Given the description of an element on the screen output the (x, y) to click on. 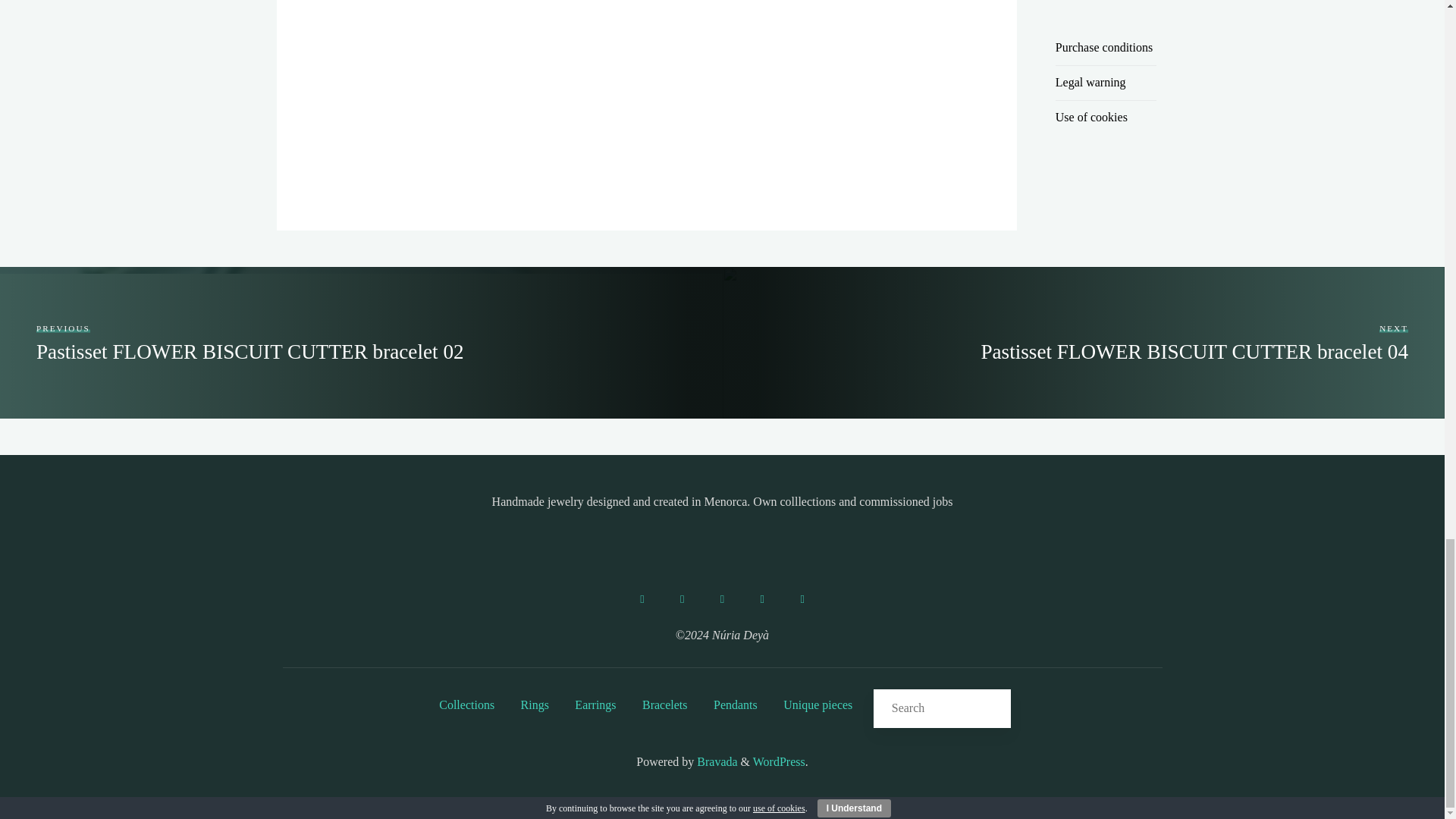
Semantic Personal Publishing Platform (778, 761)
Youtube (801, 598)
Pinterest (762, 598)
Instagram (682, 598)
Bravada WordPress Theme by Cryout Creations (715, 761)
Twitter (721, 598)
Facebook (641, 598)
